Given the description of an element on the screen output the (x, y) to click on. 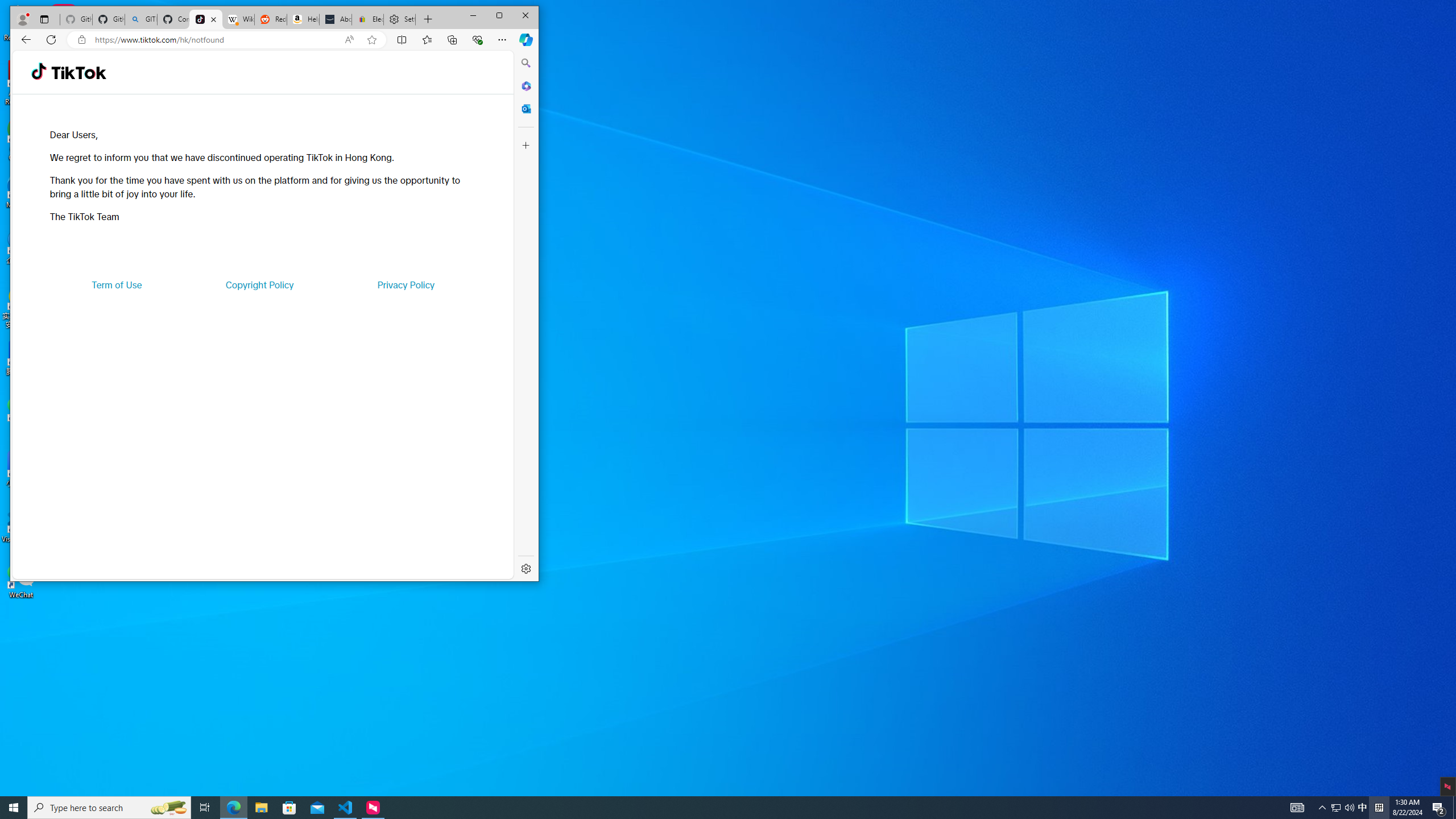
Running applications (707, 807)
Term of Use (116, 284)
Task View (204, 807)
Privacy Policy (405, 284)
